Given the description of an element on the screen output the (x, y) to click on. 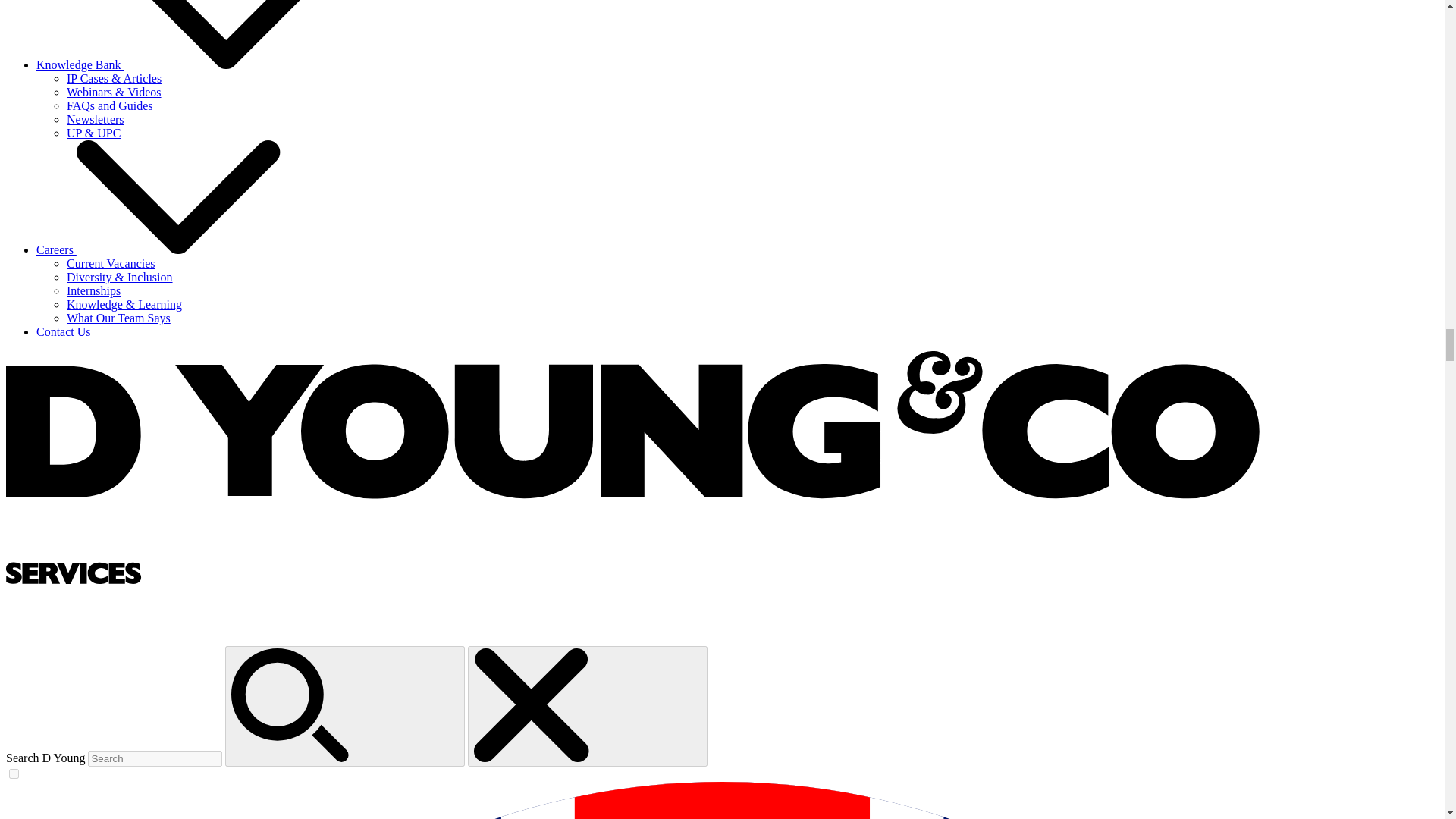
on (13, 773)
